Given the description of an element on the screen output the (x, y) to click on. 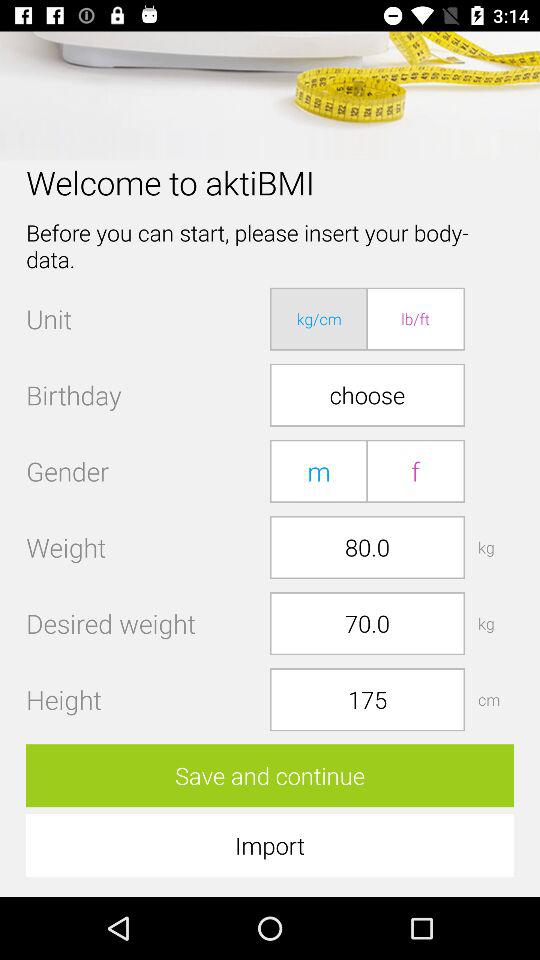
press the lb/ft icon (415, 318)
